Given the description of an element on the screen output the (x, y) to click on. 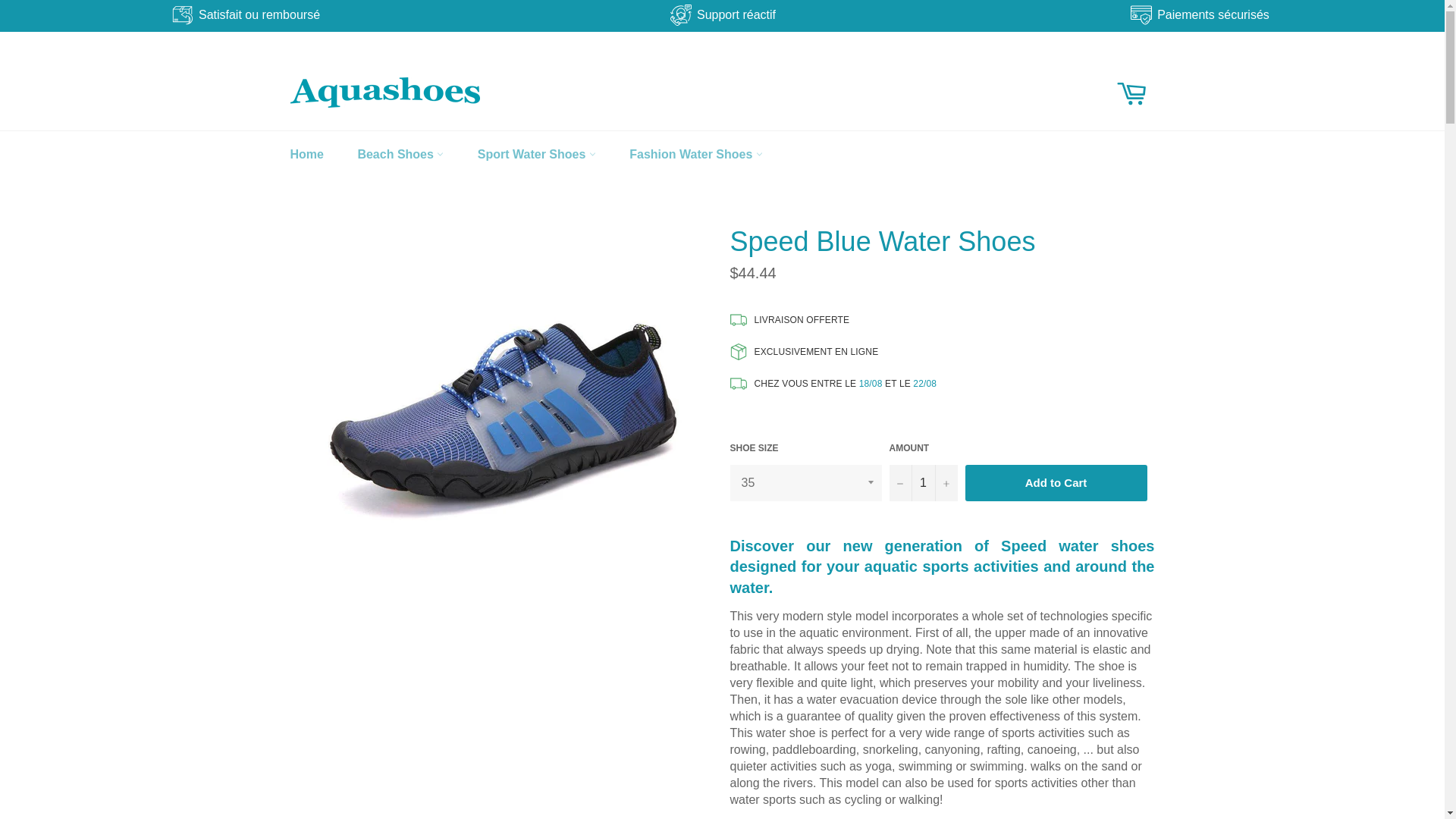
Sport Water Shoes (537, 154)
Beach Shoes (400, 154)
1 (922, 483)
Fashion Water Shoes (695, 154)
Home (306, 154)
Search (1100, 77)
Cart (1131, 92)
